Given the description of an element on the screen output the (x, y) to click on. 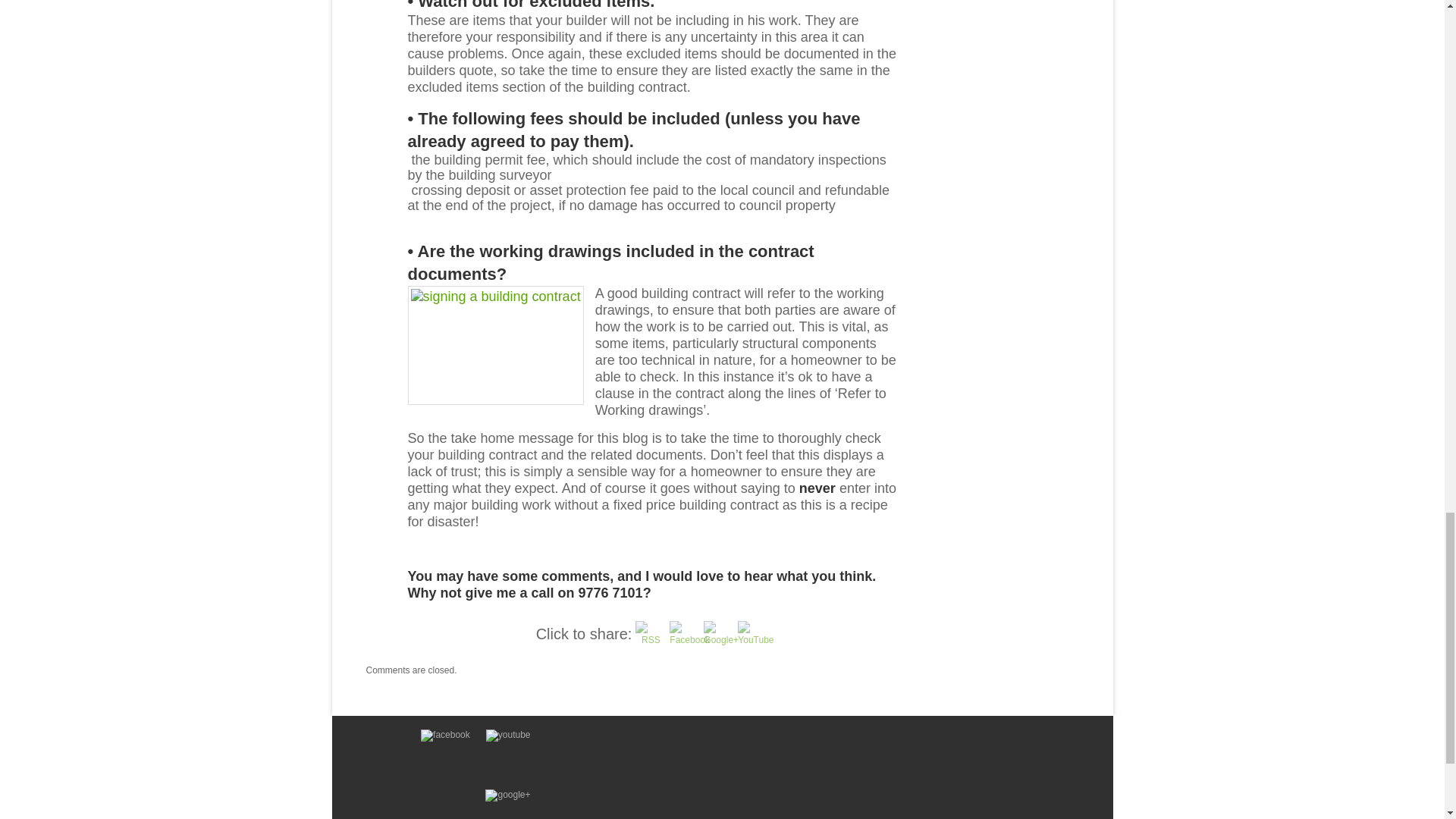
Facebook (689, 640)
YouTube (755, 638)
RSS (649, 635)
